Given the description of an element on the screen output the (x, y) to click on. 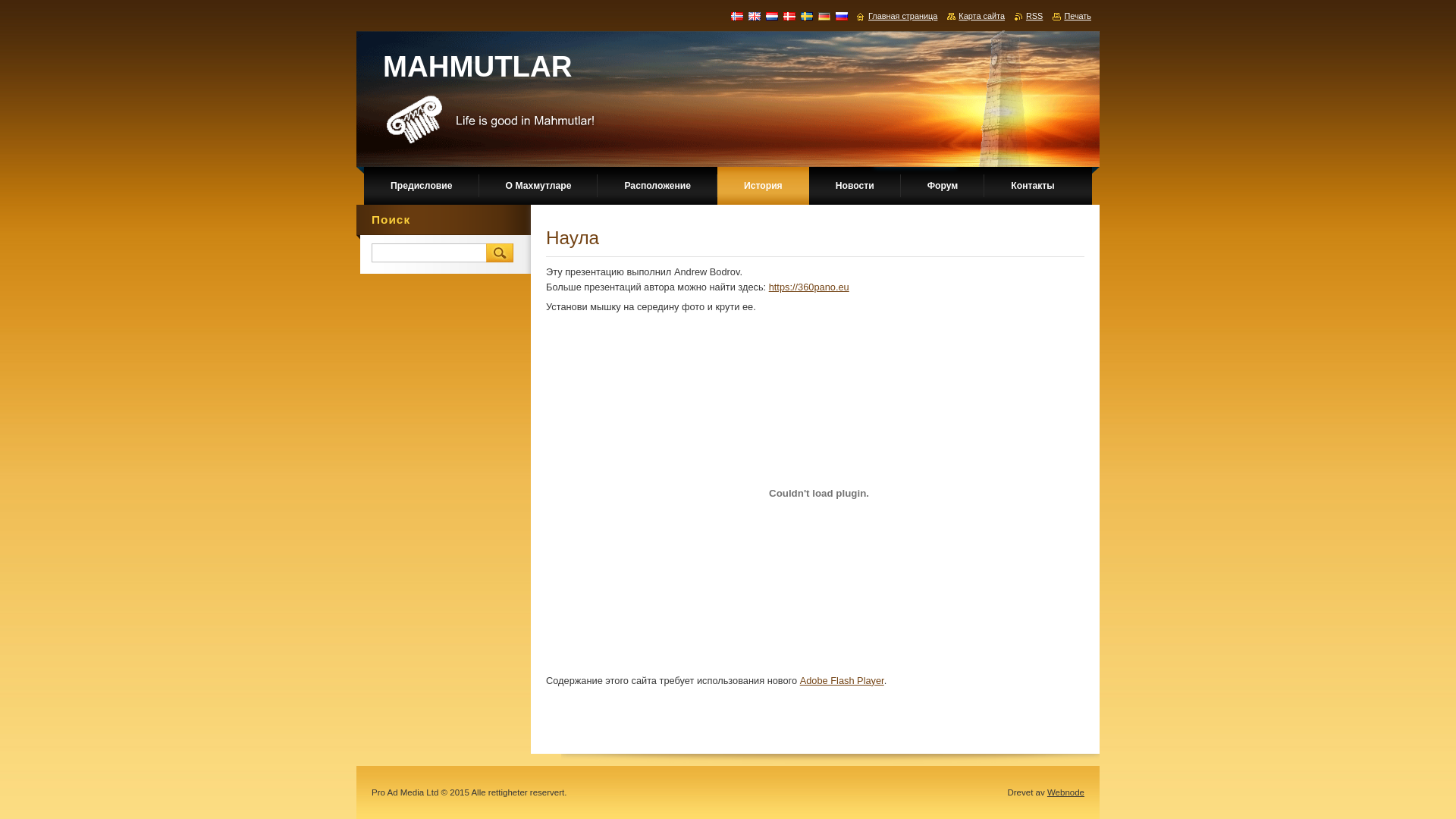
Svenska Element type: hover (806, 15)
Dansk Element type: hover (789, 15)
Deutsch Element type: hover (824, 15)
English Element type: hover (754, 15)
Norsk Element type: hover (737, 15)
RSS Element type: text (1028, 15)
https://360pano.eu Element type: text (808, 286)
MAHMUTLAR Element type: text (476, 66)
Webnode Element type: text (1065, 792)
Nederlands Element type: hover (771, 15)
Adobe Flash Player Element type: text (842, 680)
